Given the description of an element on the screen output the (x, y) to click on. 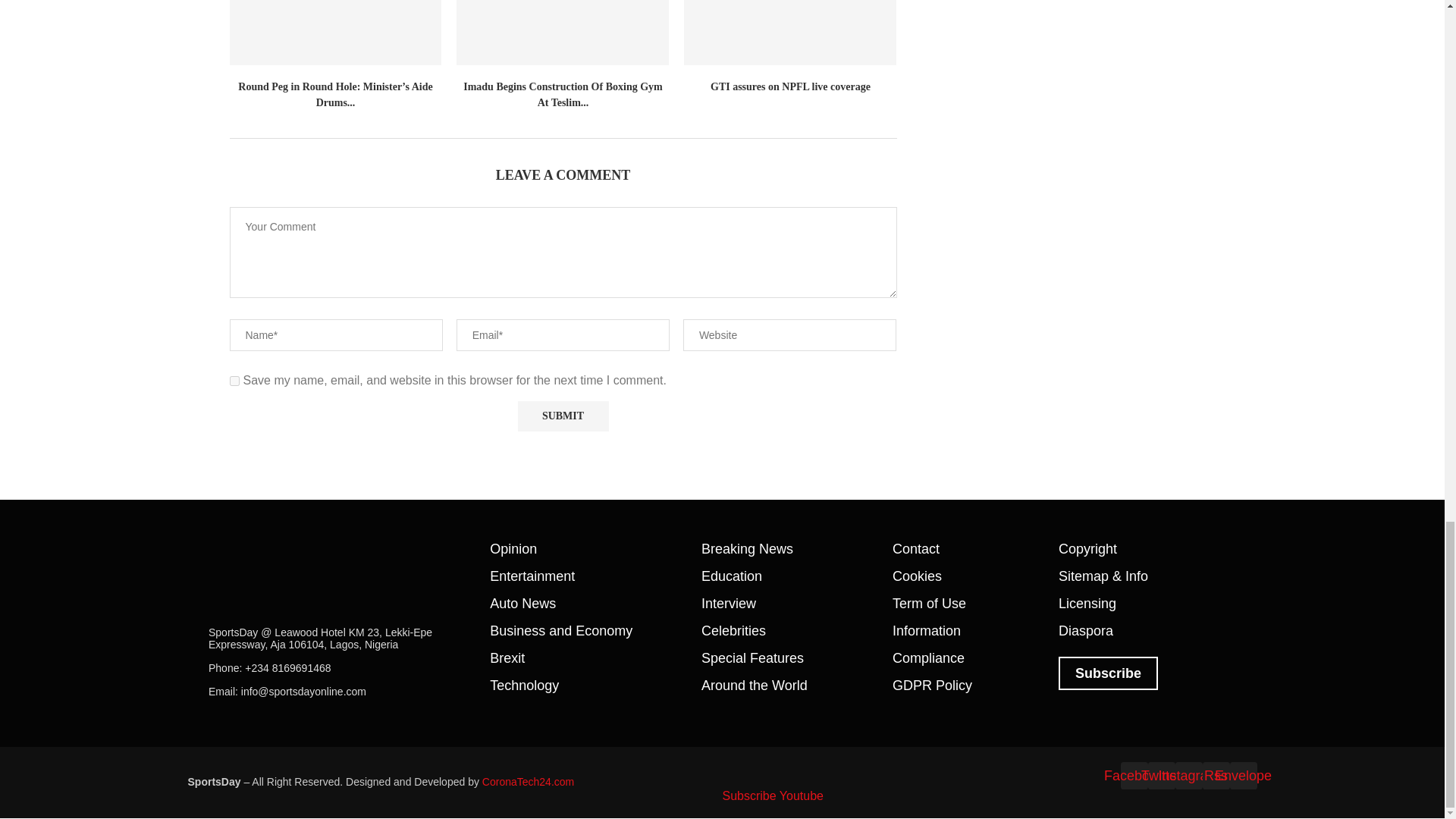
yes (233, 380)
GTI assures on NPFL live coverage (790, 32)
Submit (562, 416)
